Given the description of an element on the screen output the (x, y) to click on. 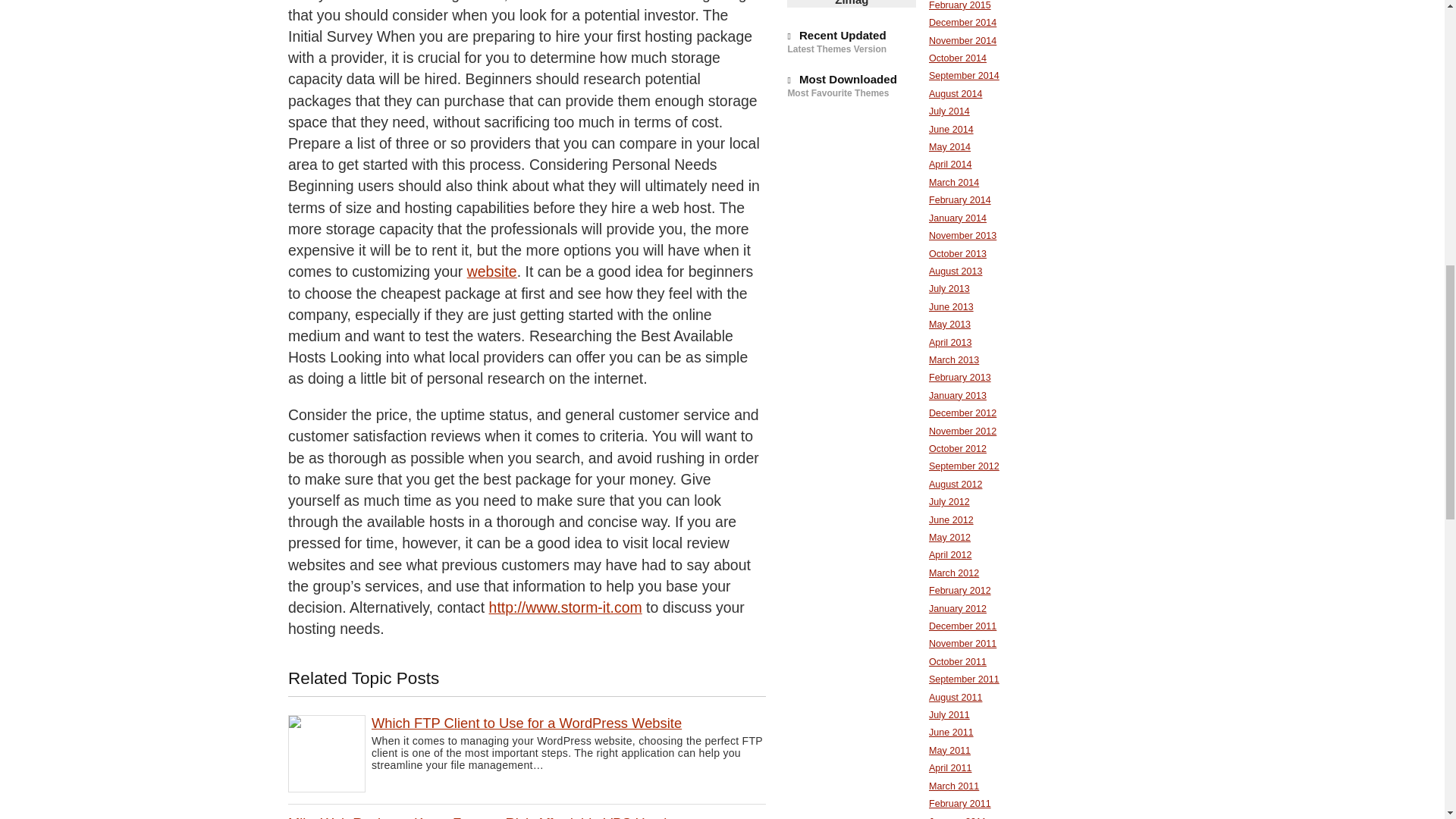
website (491, 271)
Which FTP Client to Use for a WordPress Website (526, 722)
Which FTP Client to Use for a WordPress Website (526, 722)
